Given the description of an element on the screen output the (x, y) to click on. 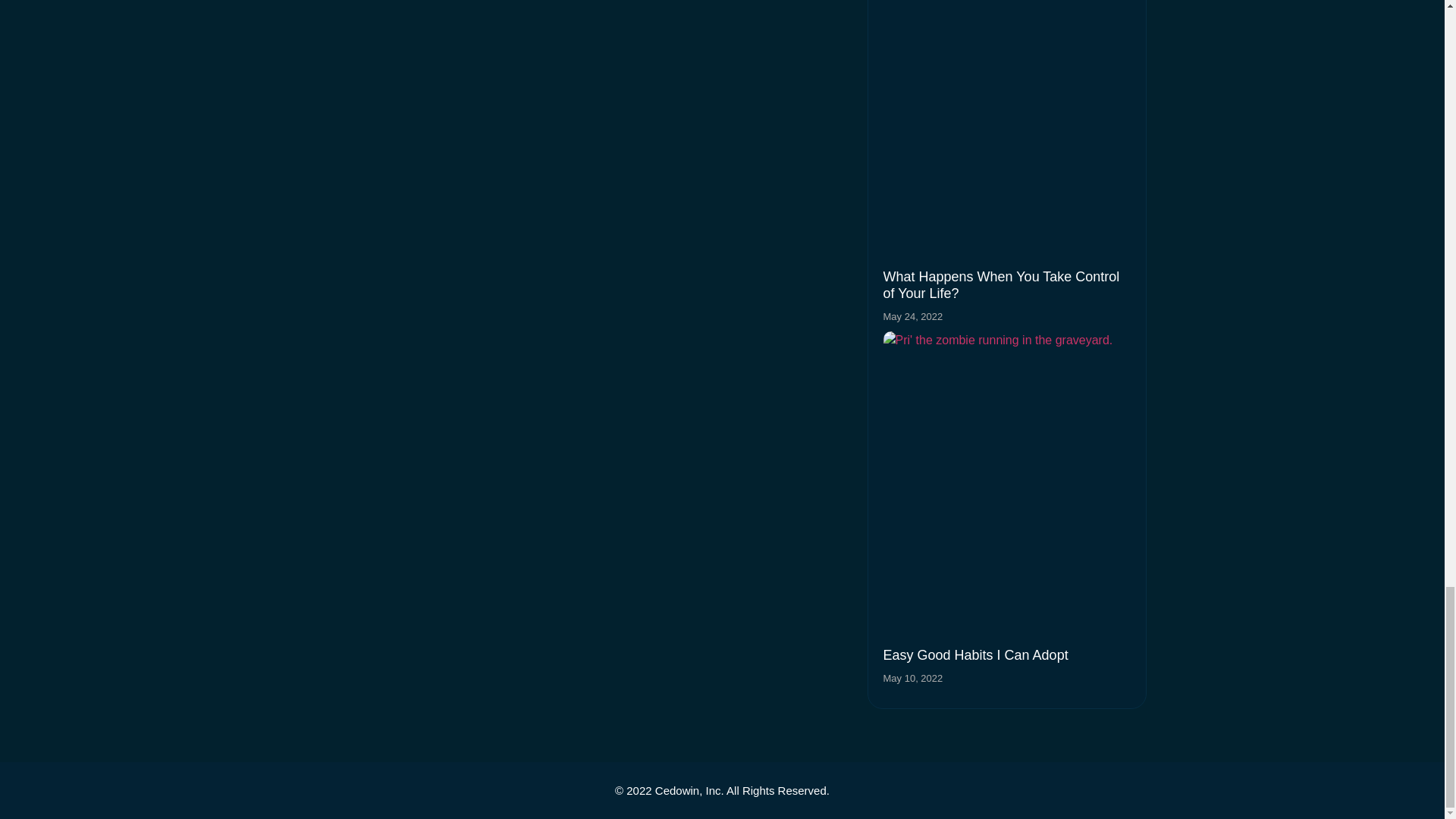
What Happens When You Take Control of Your Life? (1000, 285)
Easy Good Habits I Can Adopt (974, 654)
